Given the description of an element on the screen output the (x, y) to click on. 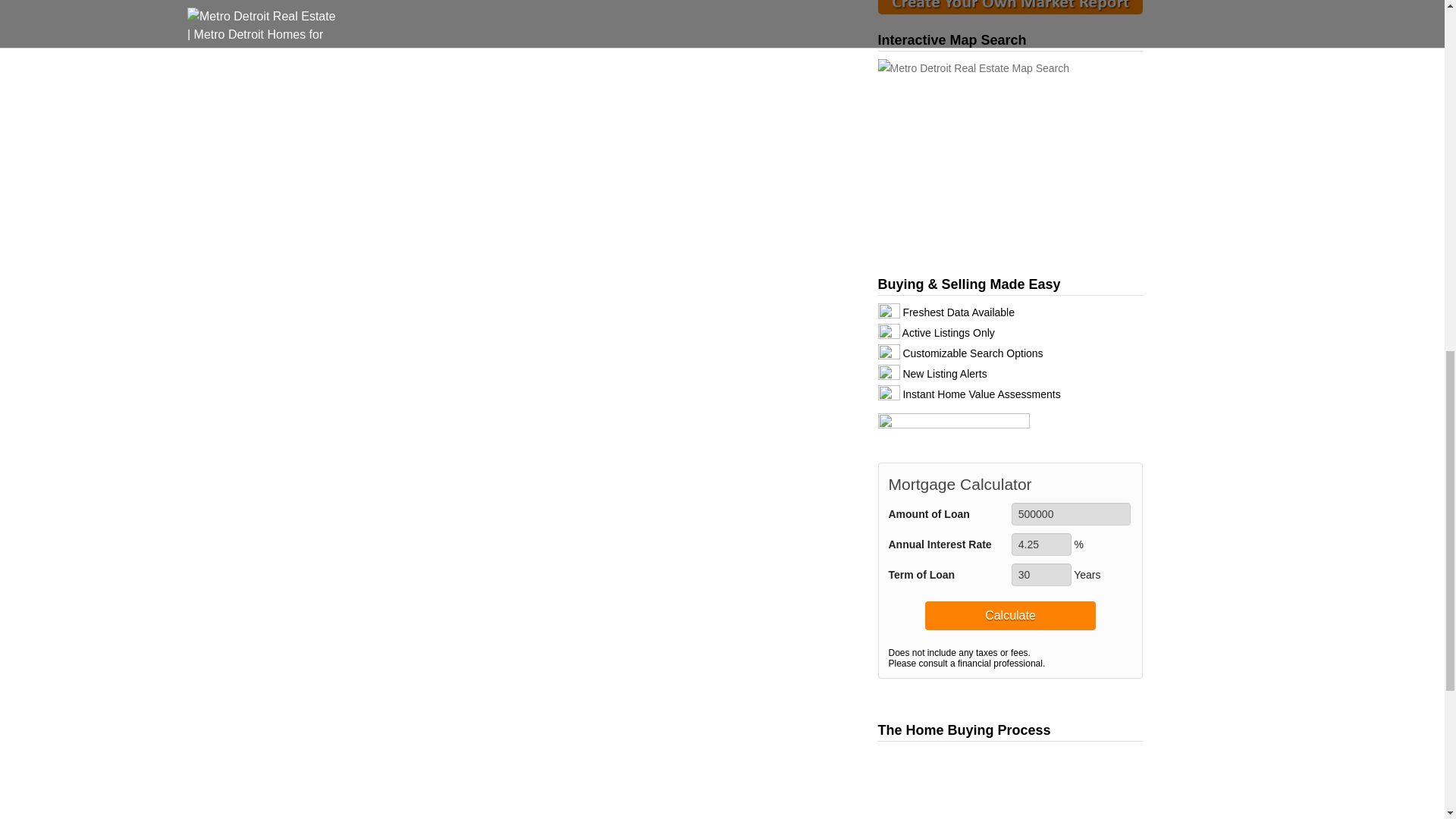
Metro Detroit Real Estate Map Search (1009, 157)
Calculate (1010, 615)
Metro Detroit Real Estate Market Report (1009, 3)
30 (1041, 574)
500000 (1071, 513)
4.25 (1041, 544)
